Given the description of an element on the screen output the (x, y) to click on. 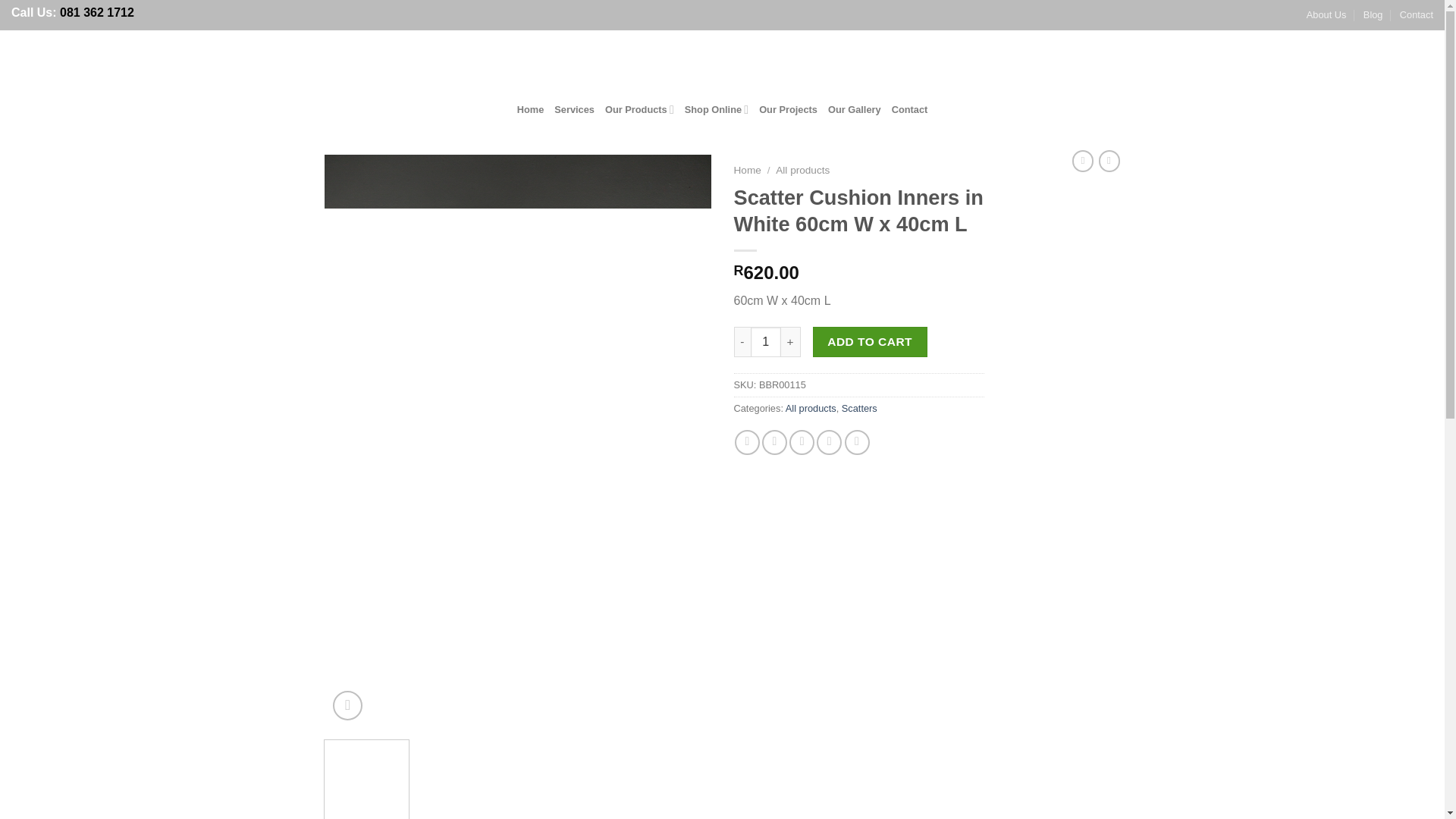
Zoom (347, 705)
1 (765, 341)
Follow on X (1383, 61)
Email to a Friend (801, 442)
Pin on Pinterest (828, 442)
Our Products (639, 109)
Share on Twitter (774, 442)
About Us (1326, 14)
Blog (1372, 14)
Follow on Instagram (1364, 61)
